Given the description of an element on the screen output the (x, y) to click on. 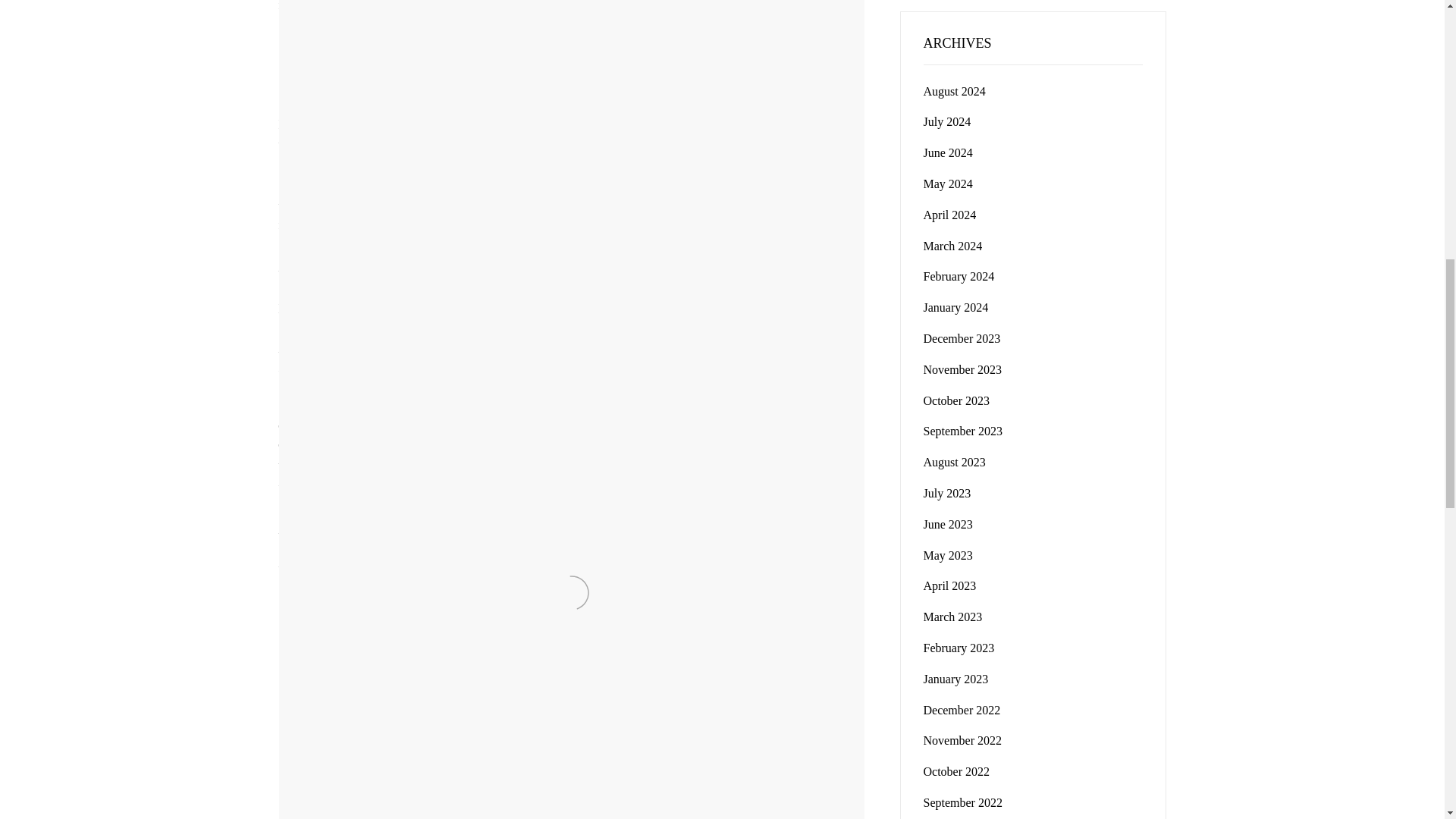
August 2023 (954, 461)
June 2024 (947, 152)
August 2024 (954, 91)
October 2023 (956, 400)
December 2023 (949, 214)
November 2023 (962, 338)
July 2024 (963, 369)
May 2024 (947, 121)
September 2023 (947, 183)
January 2024 (963, 431)
March 2024 (955, 307)
